Given the description of an element on the screen output the (x, y) to click on. 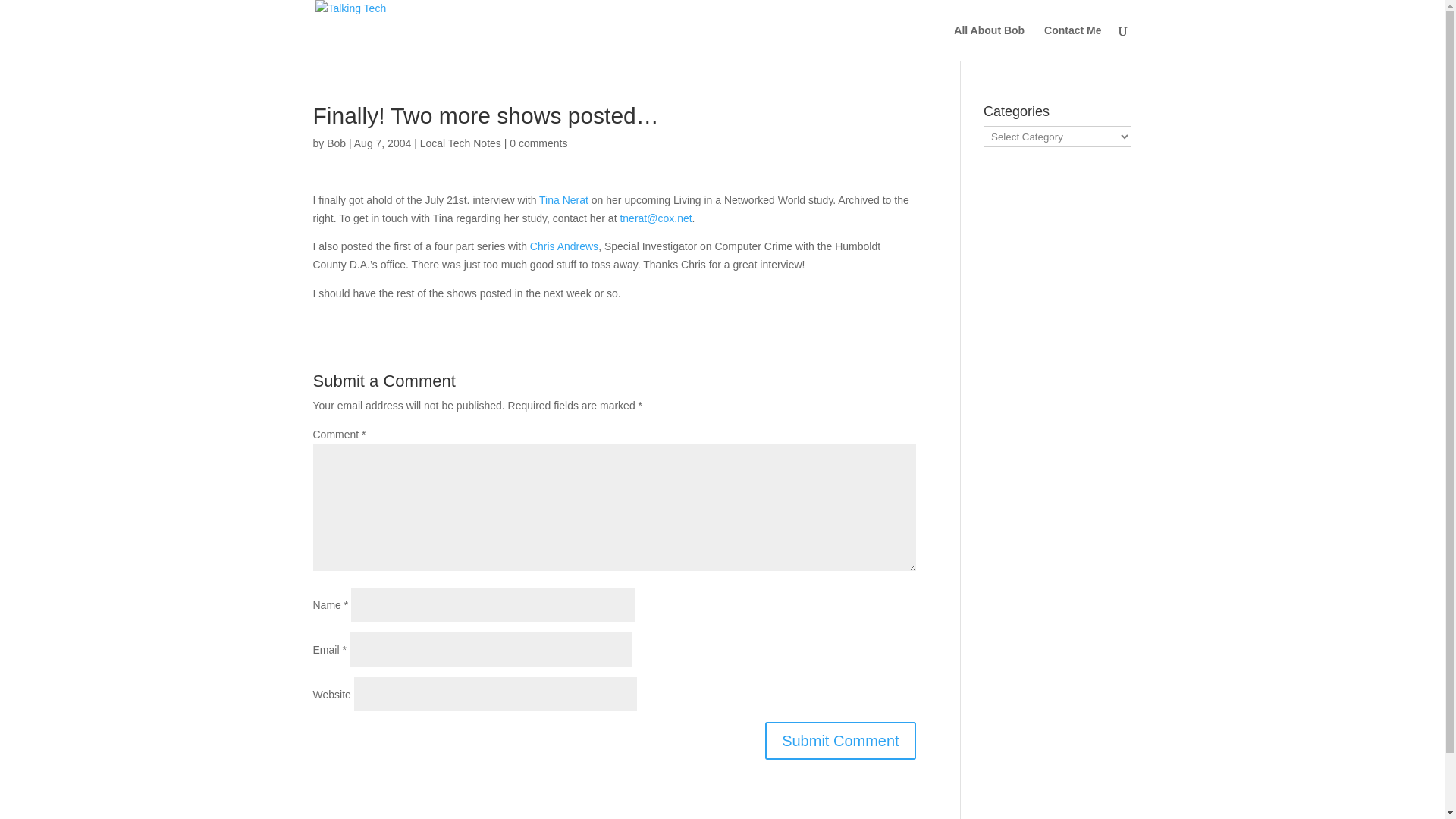
Local Tech Notes (460, 143)
Submit Comment (840, 740)
All About Bob (989, 42)
Tina Nerat (563, 200)
Chris Andrews (563, 246)
Bob (336, 143)
Submit Comment (840, 740)
0 comments (538, 143)
Contact Me (1071, 42)
Posts by Bob (336, 143)
